Given the description of an element on the screen output the (x, y) to click on. 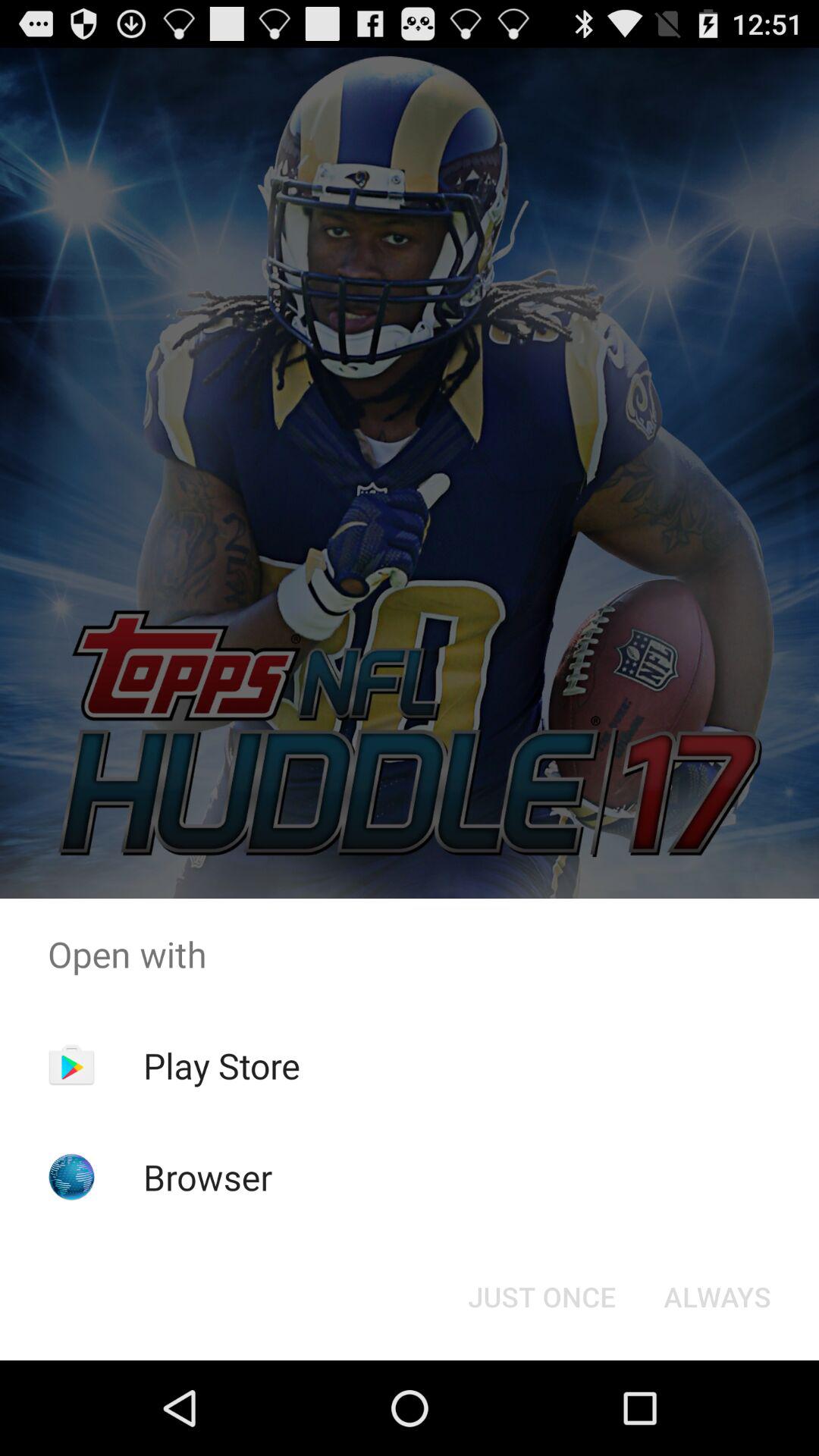
select icon below the open with icon (717, 1296)
